Given the description of an element on the screen output the (x, y) to click on. 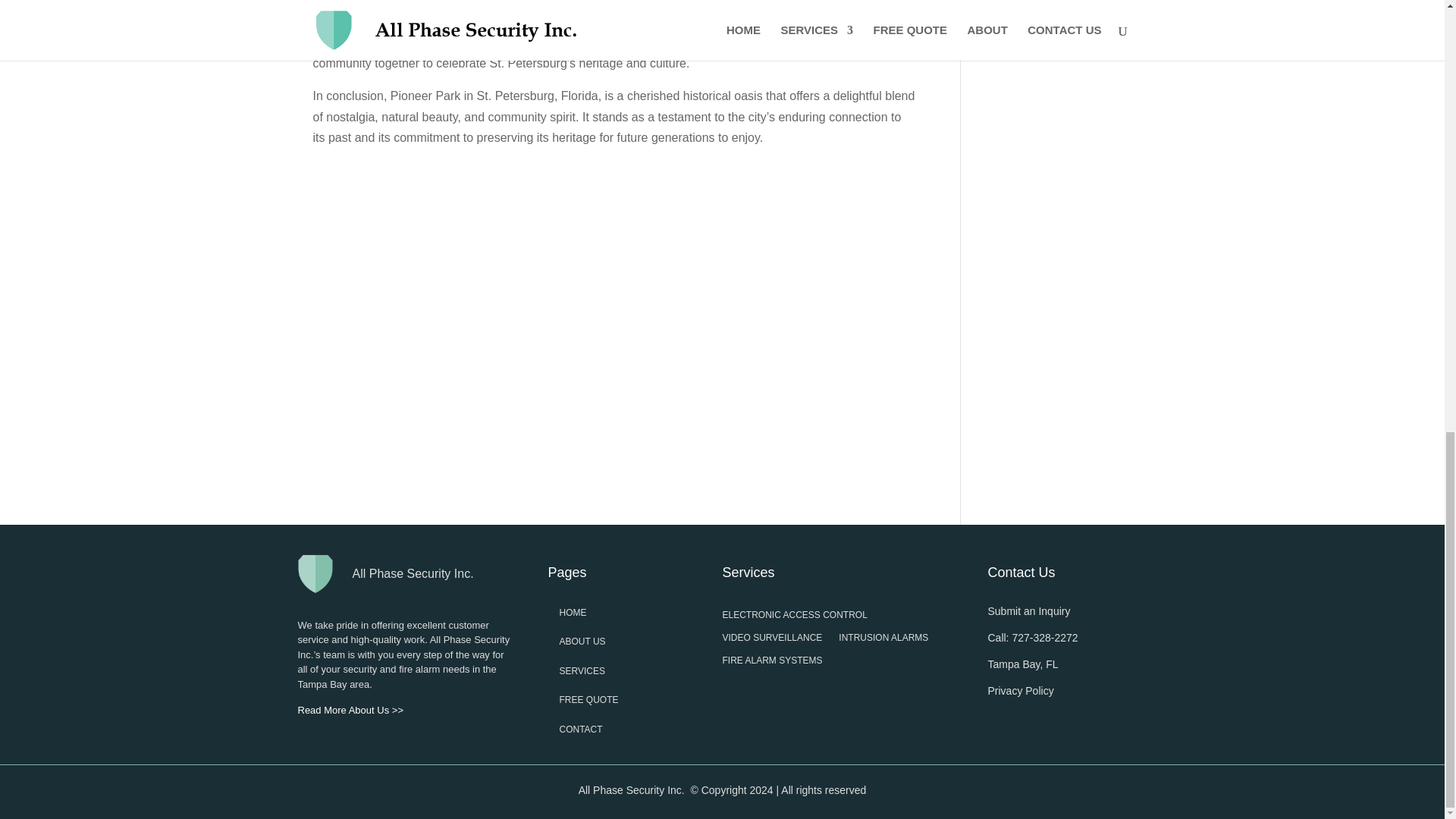
INTRUSION ALARMS (883, 640)
FIRE ALARM SYSTEMS (772, 663)
ELECTRONIC ACCESS CONTROL (794, 617)
HOME (572, 612)
VIDEO SURVEILLANCE (772, 640)
Tampa Bay, FL (1022, 664)
SERVICES (582, 670)
ABOUT US (582, 641)
CONTACT (580, 728)
FREE QUOTE (588, 699)
Submit an Inquiry (1028, 611)
Privacy Policy (1019, 690)
Call: 727-328-2272 (1032, 637)
